Given the description of an element on the screen output the (x, y) to click on. 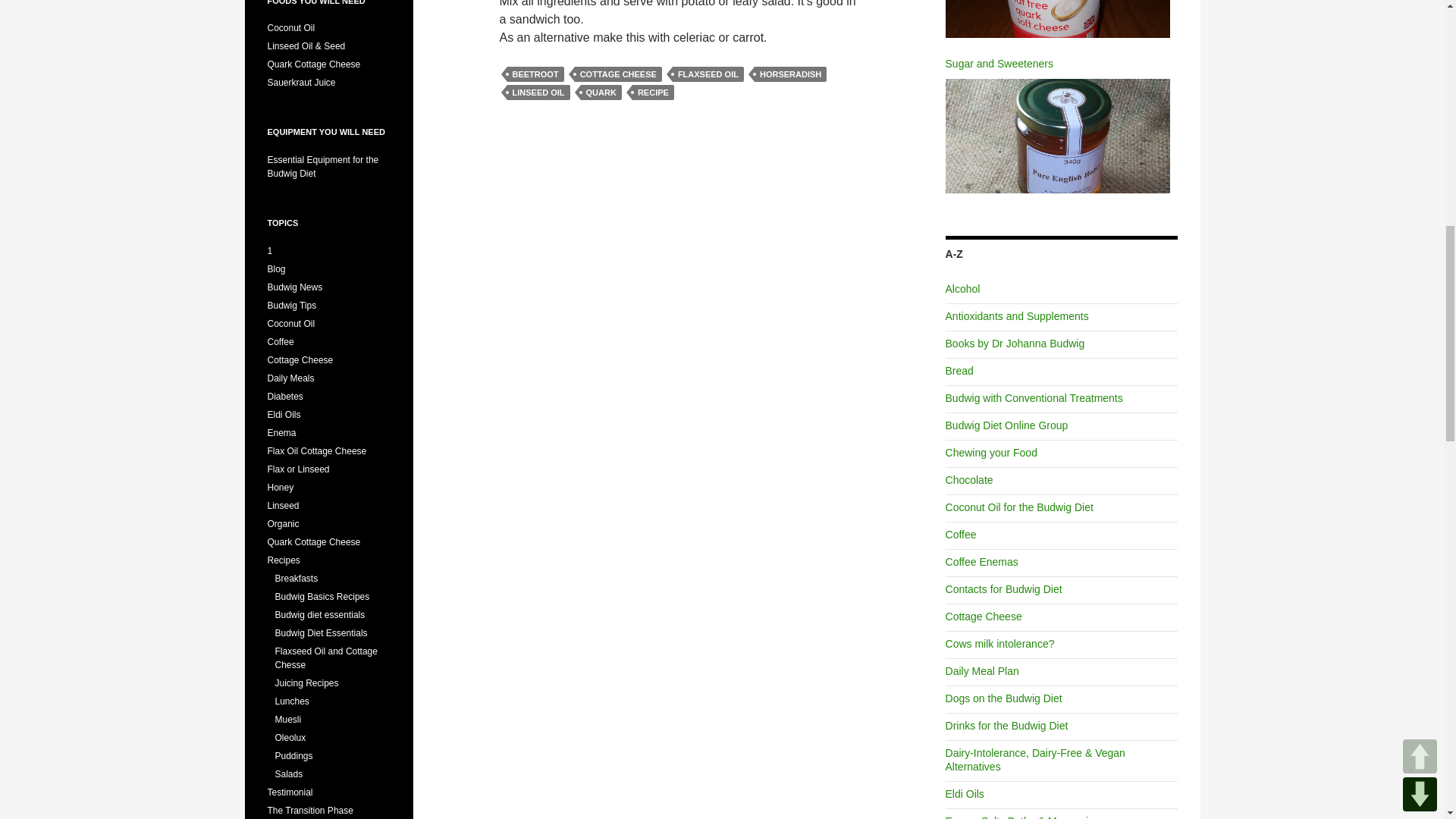
RECIPE (652, 92)
Sugar and Sweeteners (1057, 135)
New: Quark from Waitrose (1057, 18)
FLAXSEED OIL (708, 73)
LINSEED OIL (537, 92)
HORSERADISH (790, 73)
COTTAGE CHEESE (618, 73)
BEETROOT (534, 73)
QUARK (600, 92)
